Given the description of an element on the screen output the (x, y) to click on. 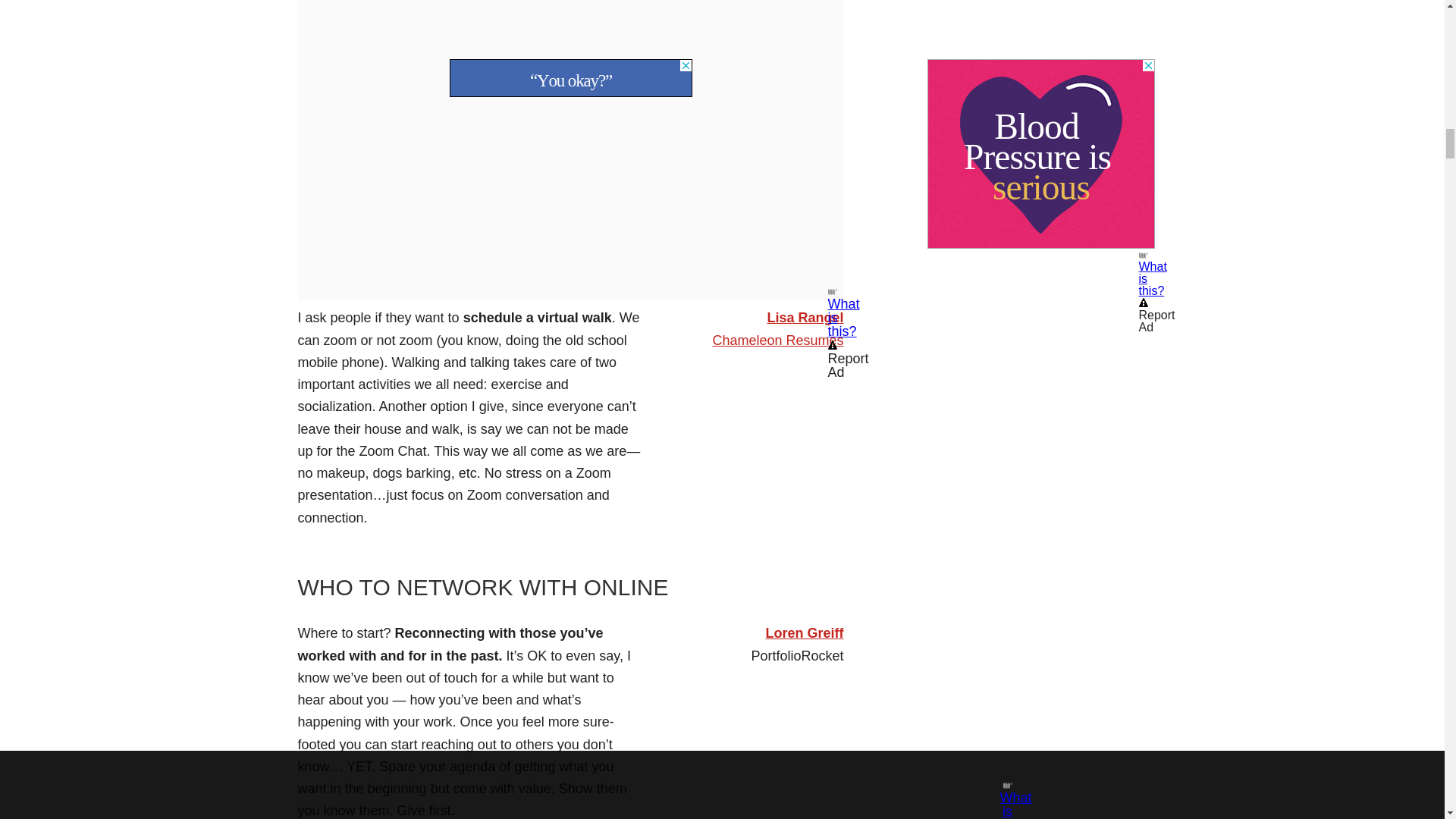
Chameleon Resumes (777, 340)
Loren Greiff (804, 632)
3rd party ad content (569, 2)
Lisa Rangel (805, 317)
